Given the description of an element on the screen output the (x, y) to click on. 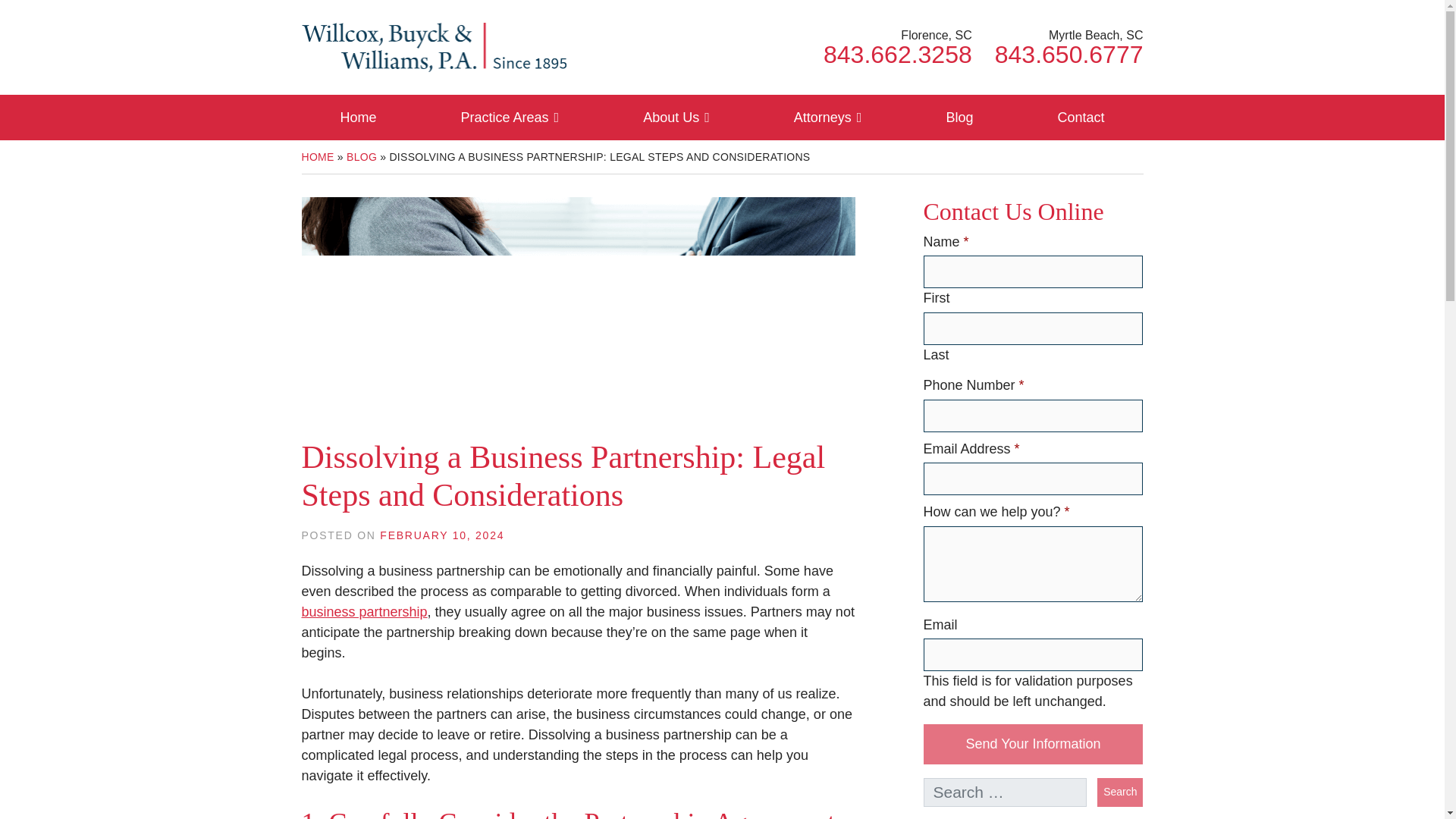
Home (357, 116)
Search (1119, 792)
Search for: (1005, 792)
Return home (1068, 53)
Practice Areas (898, 53)
Search (434, 46)
